Given the description of an element on the screen output the (x, y) to click on. 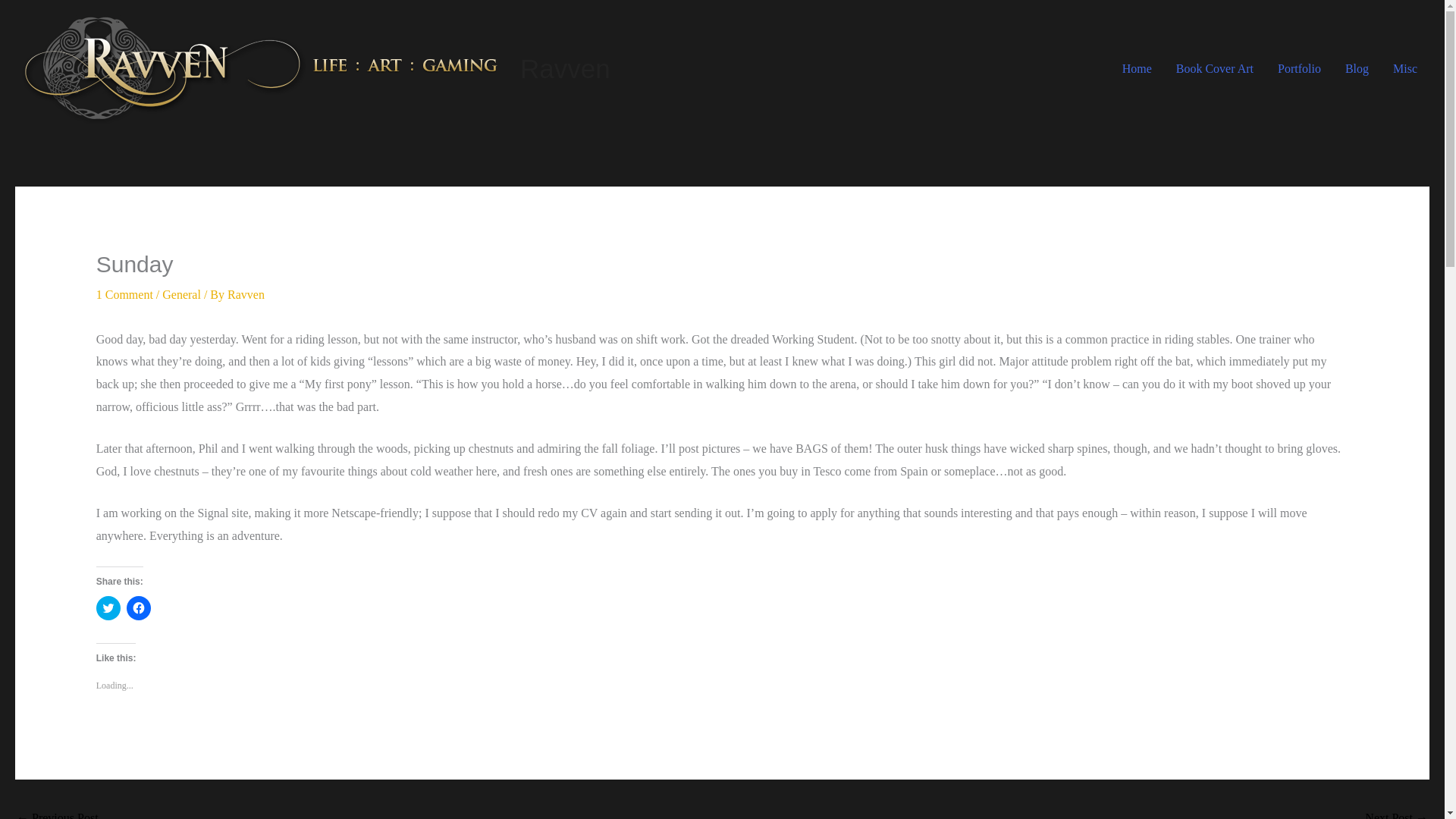
Click to share on Facebook (138, 607)
Blog (1356, 68)
Misc (1404, 68)
Portfolio (1299, 68)
Home (1136, 68)
Ravven (564, 68)
Pics (1396, 812)
Book Cover Art (1214, 68)
Click to share on Twitter (108, 607)
Urp... (57, 812)
